Given the description of an element on the screen output the (x, y) to click on. 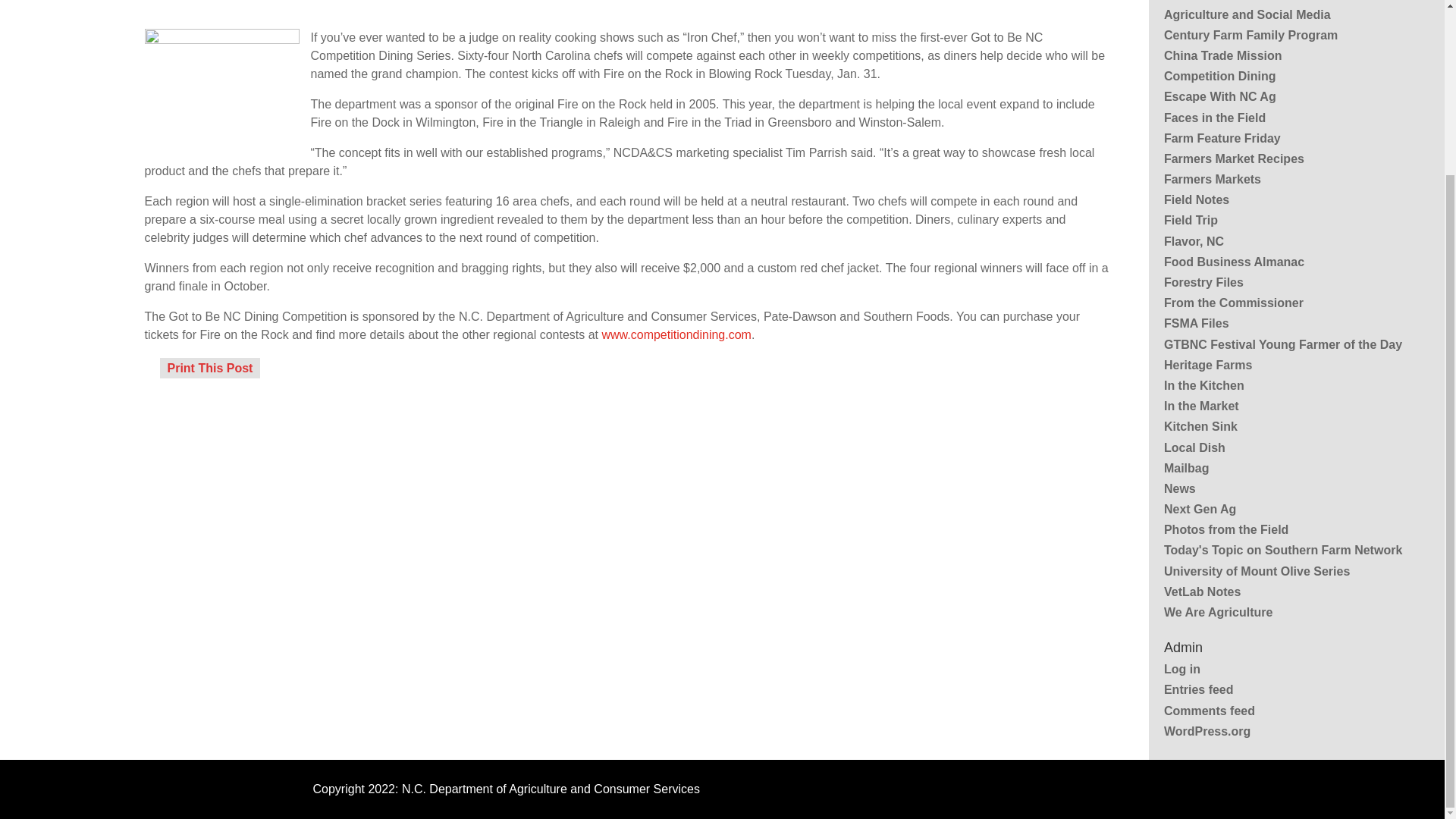
Competition Dining (1219, 75)
GTBNC Festival Young Farmer of the Day (1282, 344)
News (1179, 488)
Next Gen Ag (1199, 508)
From the Commissioner (1233, 302)
In the Market (1201, 405)
Century Farm Family Program (1250, 34)
G2BNC Competition Dining1 (221, 92)
Escape With NC Ag (1219, 96)
Farmers Markets (1211, 178)
Farm Feature Friday (1222, 137)
In the Kitchen (1203, 385)
FSMA Files (1195, 323)
Heritage Farms (1207, 364)
Photos from the Field (1225, 529)
